Given the description of an element on the screen output the (x, y) to click on. 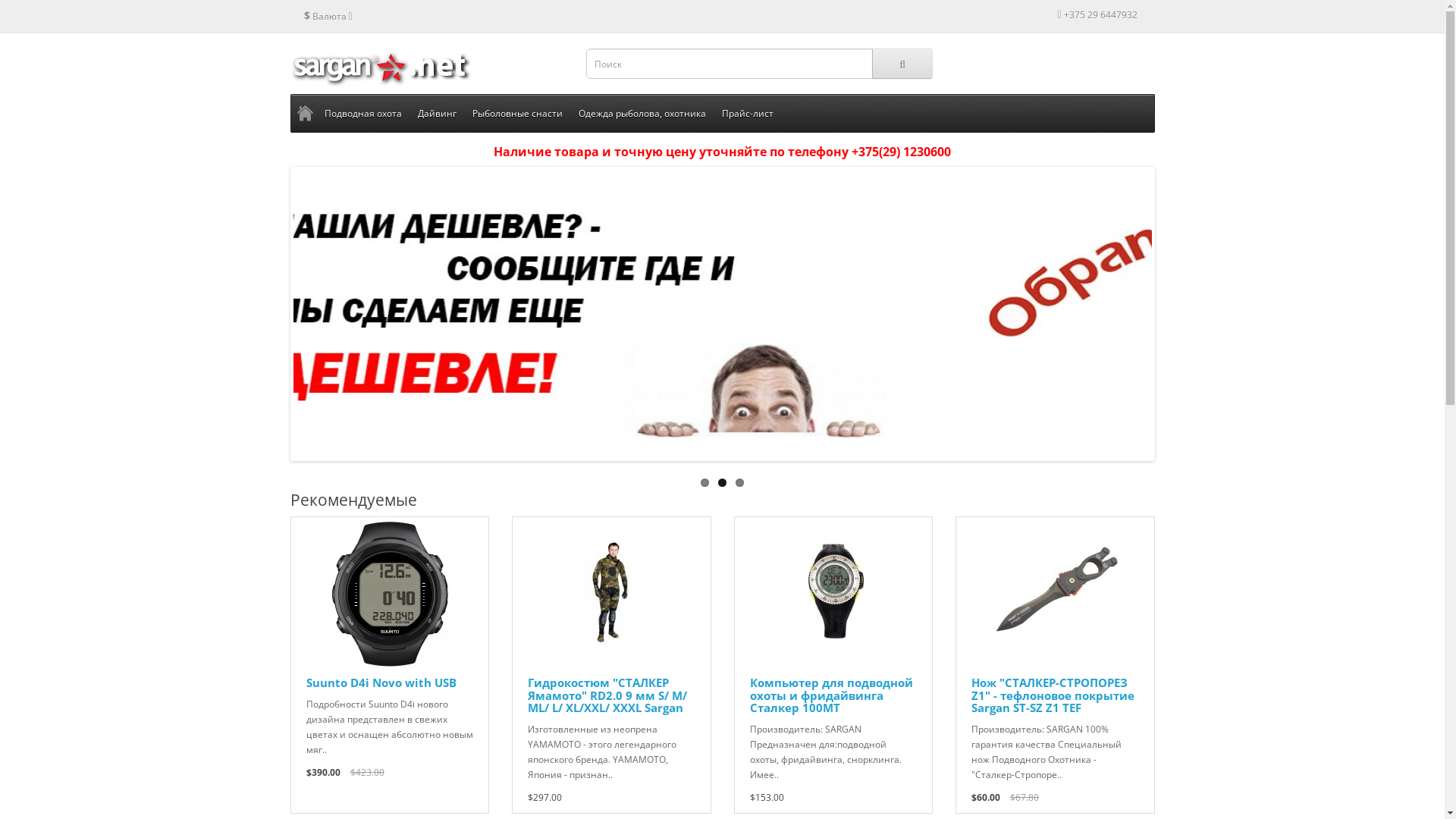
Suunto D4i Novo with USB Element type: hover (389, 592)
Suunto D4i Novo with USB Element type: text (381, 682)
  Element type: text (304, 113)
